Given the description of an element on the screen output the (x, y) to click on. 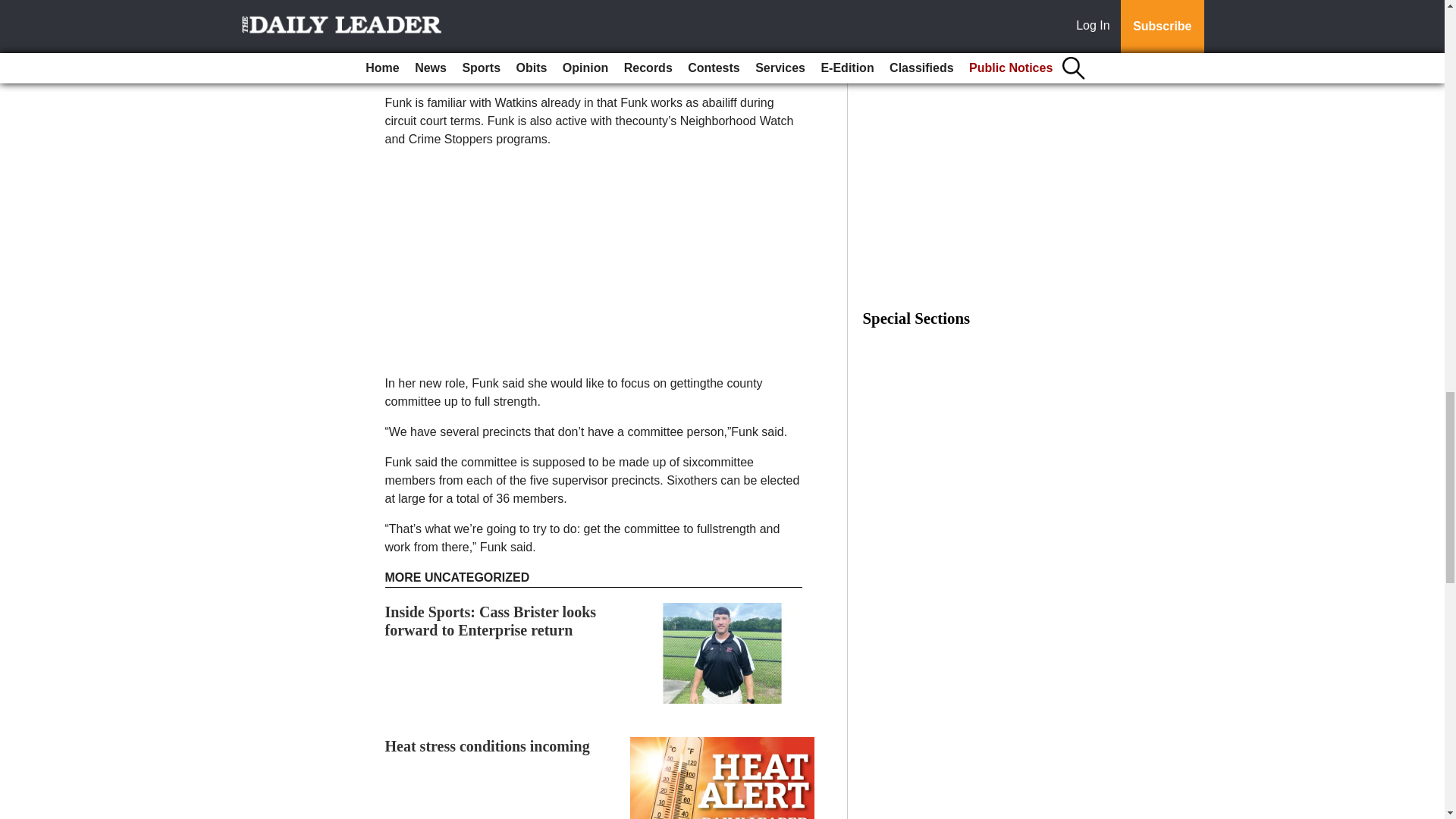
Heat stress conditions incoming (487, 745)
Heat stress conditions incoming (487, 745)
